Given the description of an element on the screen output the (x, y) to click on. 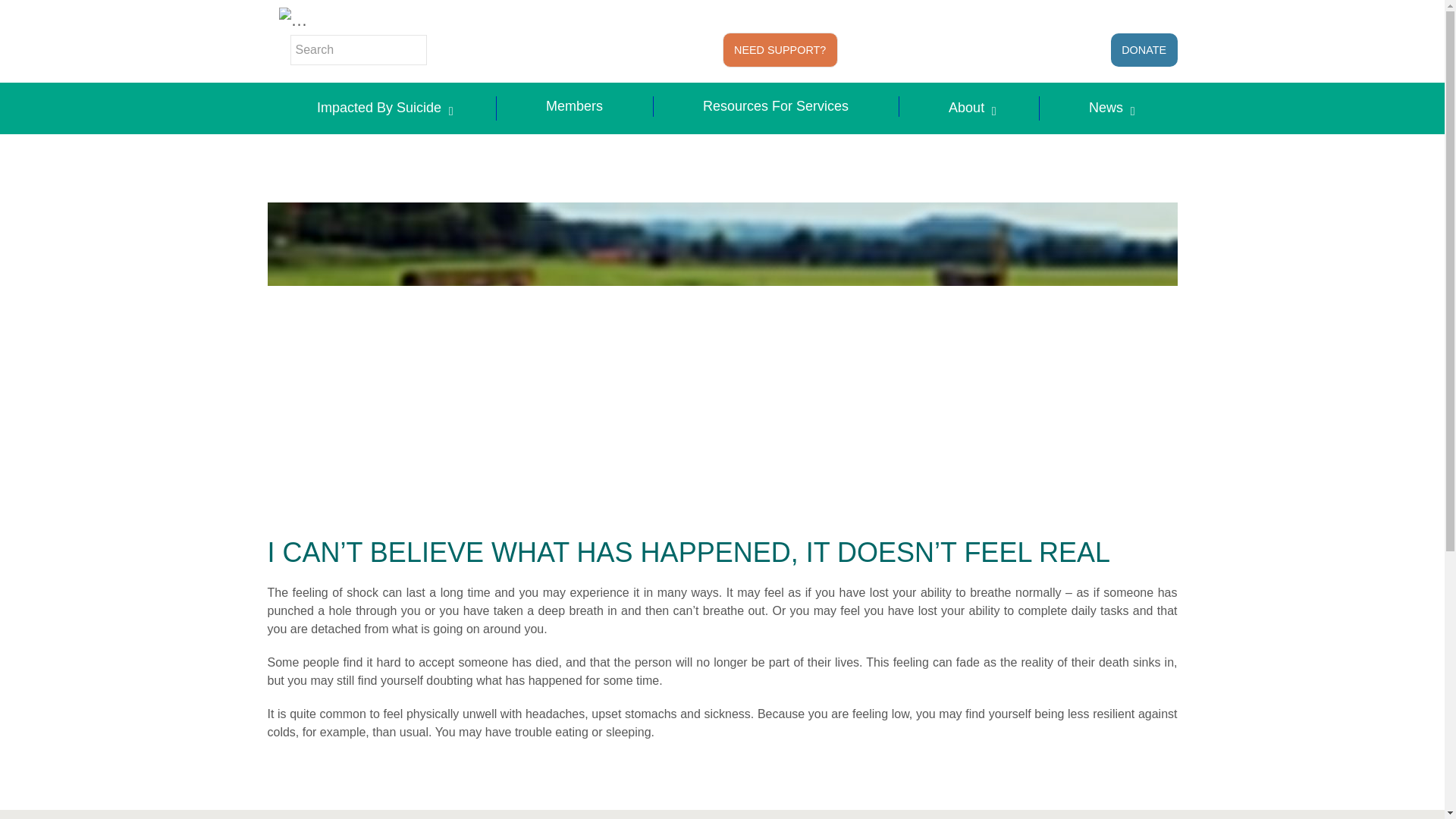
Resources For Services (776, 106)
NEED SUPPORT? (780, 49)
Impacted By Suicide (381, 108)
About (969, 108)
DONATE (1143, 49)
News (1108, 108)
Members (574, 106)
